Given the description of an element on the screen output the (x, y) to click on. 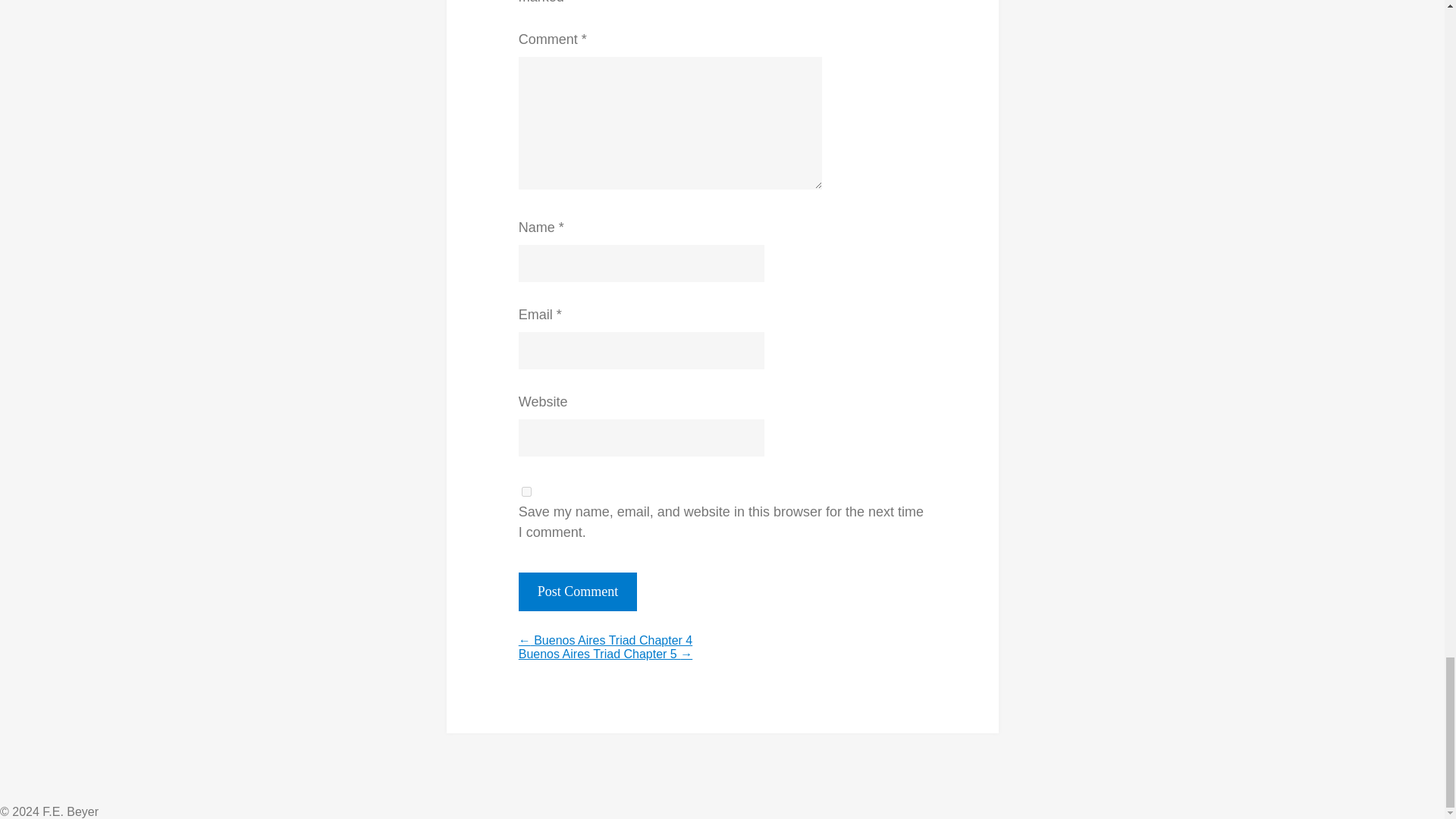
Post Comment (577, 591)
Post Comment (577, 591)
yes (526, 491)
